Given the description of an element on the screen output the (x, y) to click on. 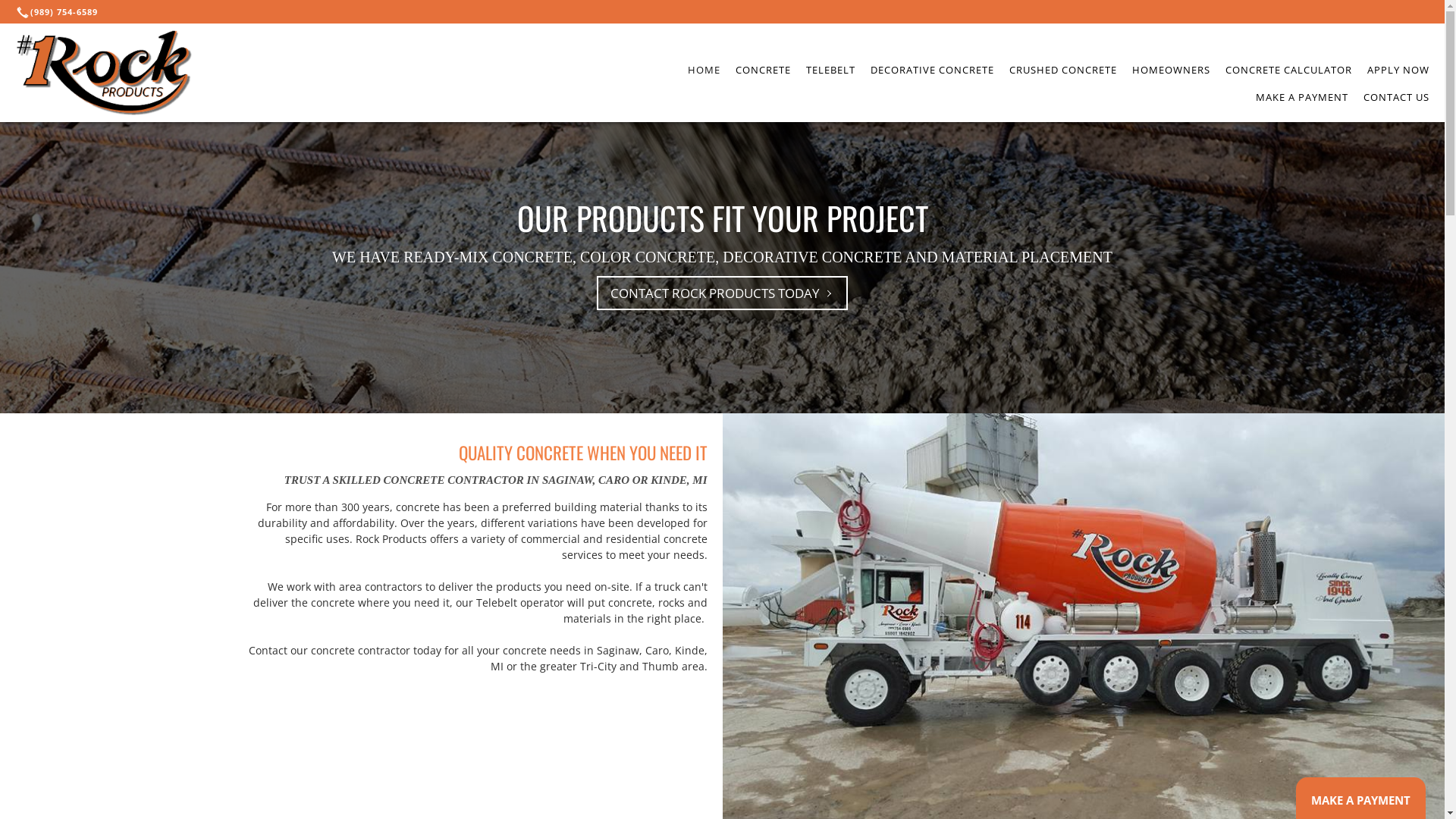
DECORATIVE CONCRETE Element type: text (932, 69)
HOME Element type: text (703, 69)
OUR PRODUCTS FIT YOUR PROJECT Element type: text (722, 217)
CONTACT US Element type: text (1396, 96)
HOMEOWNERS Element type: text (1171, 69)
TELEBELT Element type: text (830, 69)
CONCRETE CALCULATOR Element type: text (1288, 69)
MAKE A PAYMENT Element type: text (1360, 801)
CONTACT ROCK PRODUCTS TODAY Element type: text (721, 293)
(989) 754-6589 Element type: hover (58, 11)
MAKE A PAYMENT Element type: text (1301, 96)
APPLY NOW Element type: text (1398, 69)
CRUSHED CONCRETE Element type: text (1063, 69)
CONCRETE Element type: text (762, 69)
